Given the description of an element on the screen output the (x, y) to click on. 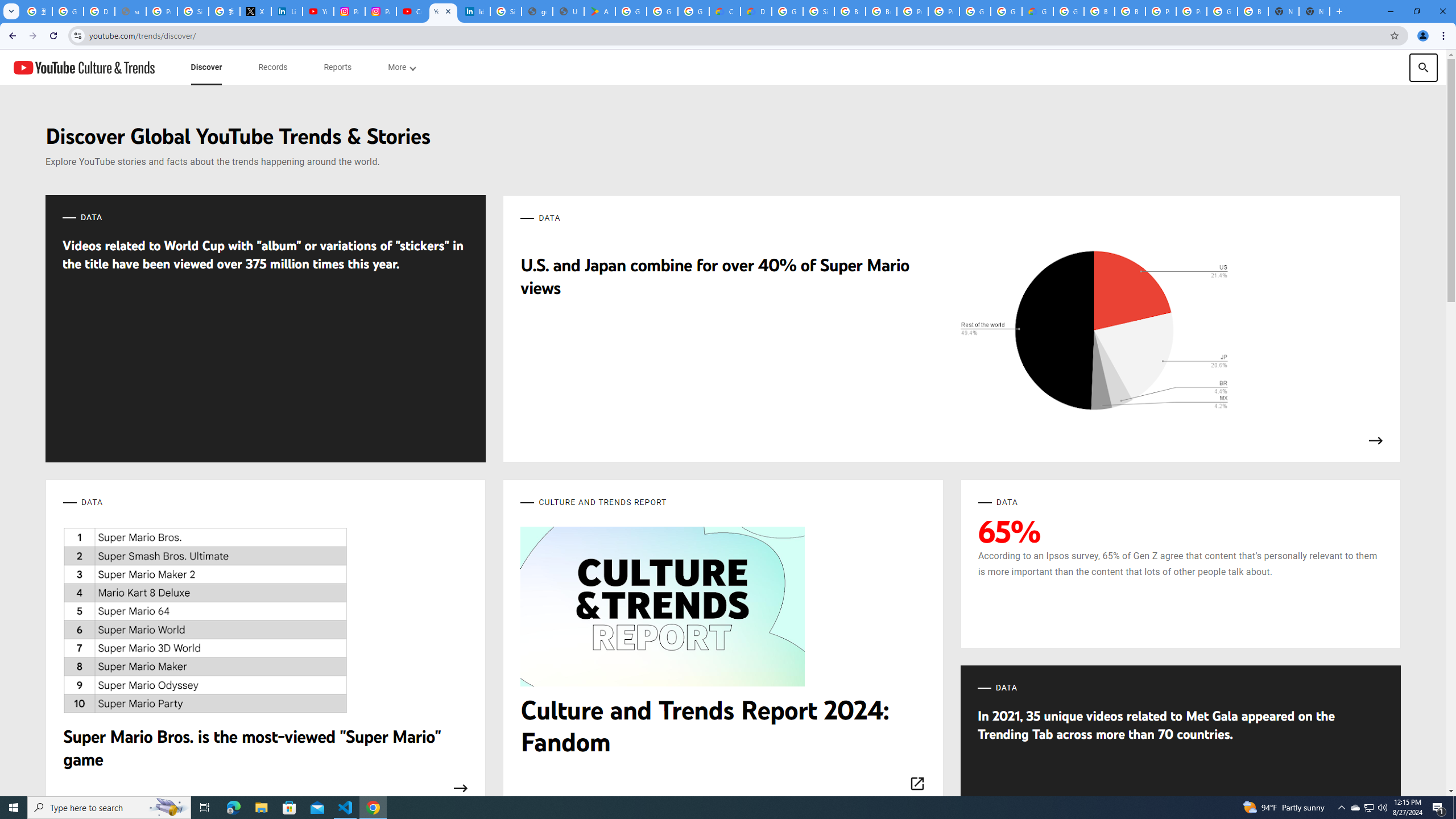
subnav-Reports menupopup (337, 67)
subnav-Discover menupopup (206, 67)
subnav-More menupopup (401, 67)
Google Cloud Platform (1005, 11)
